Given the description of an element on the screen output the (x, y) to click on. 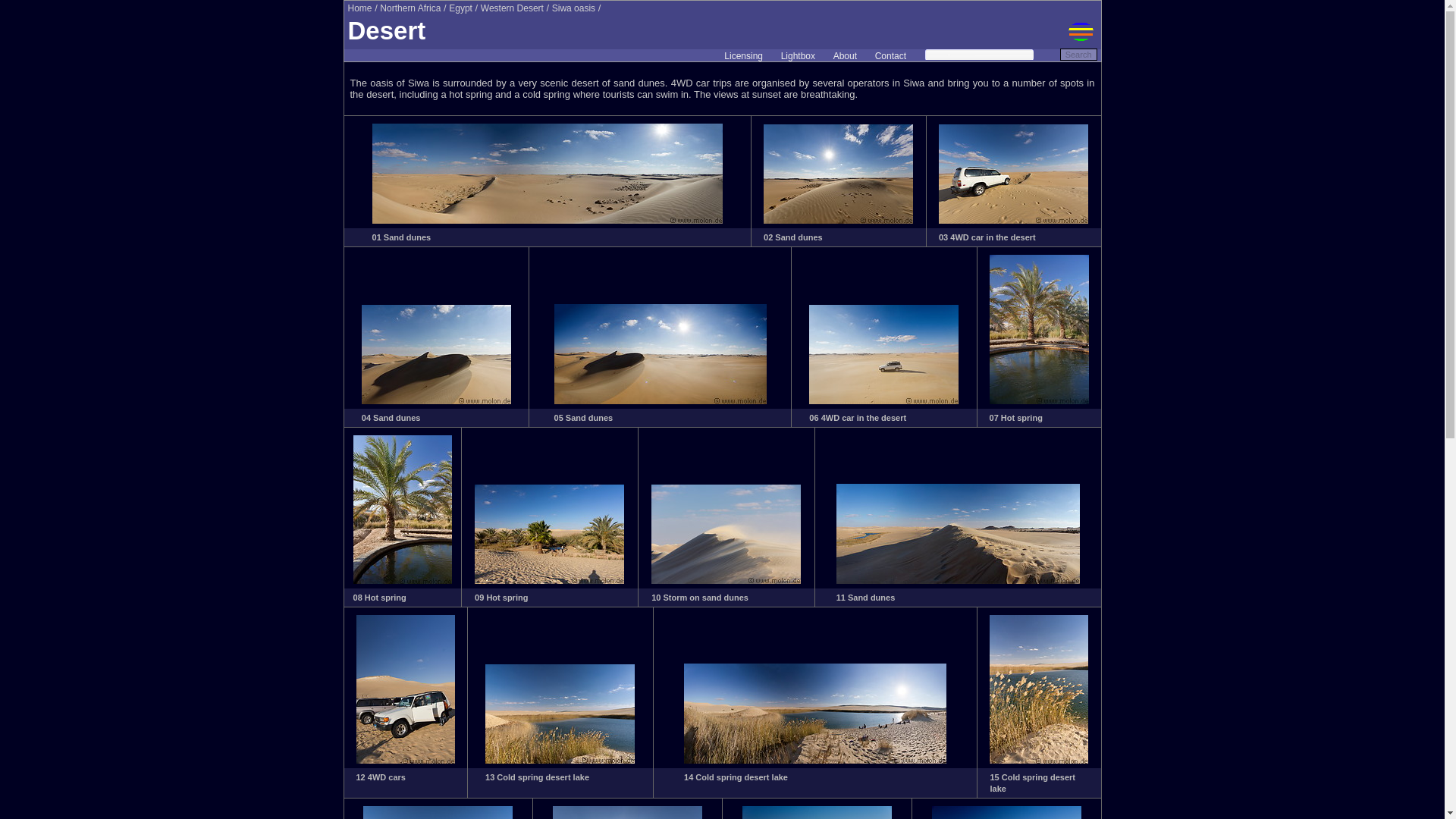
09 Hot spring (500, 596)
Image EG58276 - click to enlarge (549, 580)
Image EG58282 - click to enlarge (1038, 759)
Licensing (743, 55)
Image EG58280 - click to enlarge (559, 759)
05 Sand dunes (583, 417)
Image EG58273 - click to enlarge (883, 400)
01 Sand dunes (401, 236)
Egypt (459, 8)
04 Sand dunes (390, 417)
13 Cold spring desert lake (536, 777)
Image EG58281 - click to enlarge (815, 759)
07 Hot spring (1016, 417)
Search (1078, 54)
Image EG58277 - click to enlarge (725, 580)
